Given the description of an element on the screen output the (x, y) to click on. 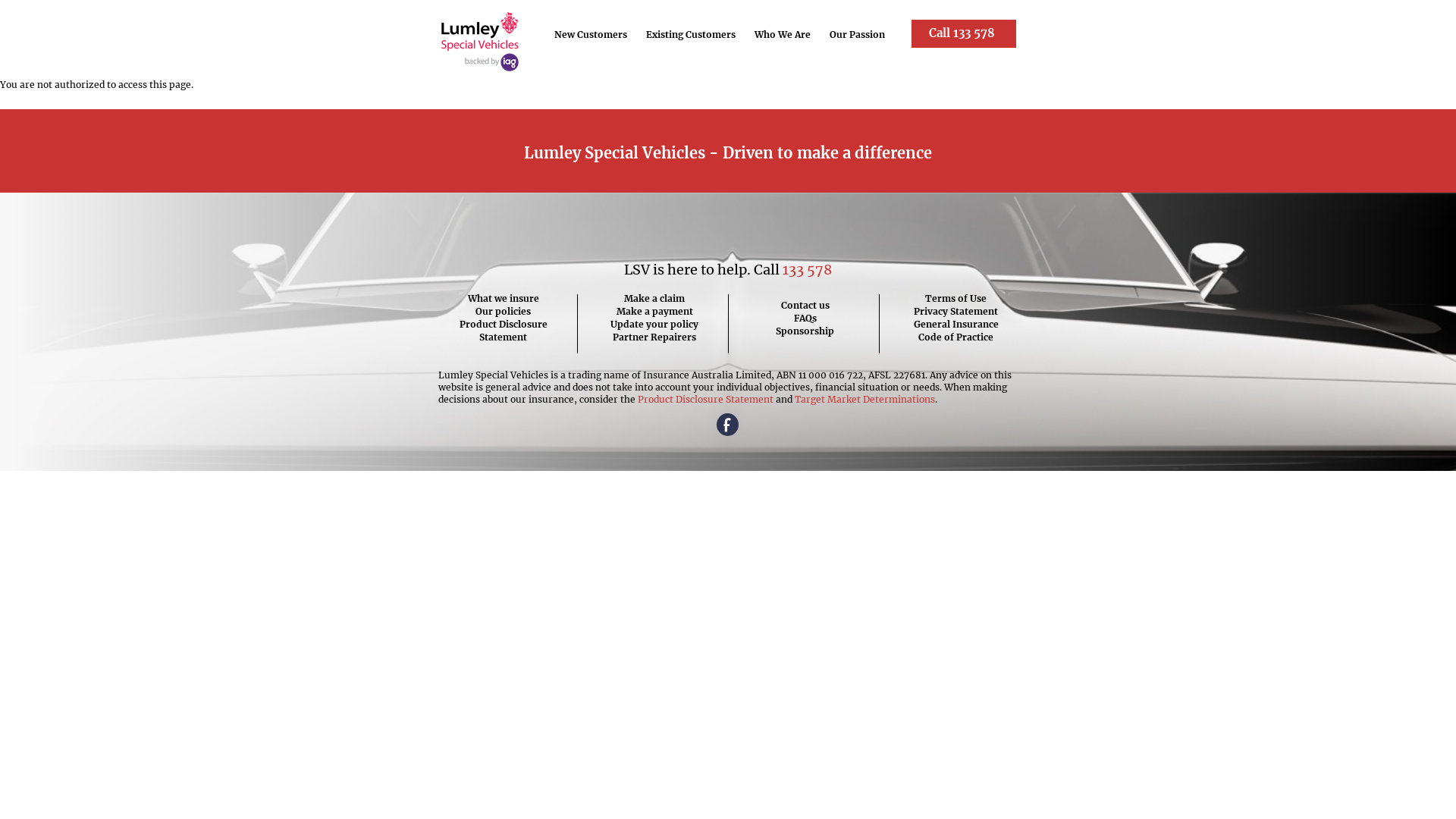
Update your policy Element type: text (654, 323)
Skip to main content Element type: text (47, 0)
Contact us Element type: text (804, 304)
Call 133 578 Element type: text (963, 33)
Product Disclosure
Statement Element type: text (503, 330)
Privacy Statement Element type: text (956, 310)
Sponsorship Element type: text (804, 330)
Who We Are Element type: text (782, 34)
Target Market Determinations Element type: text (864, 398)
Existing Customers Element type: text (691, 34)
Partner Repairers Element type: text (654, 336)
Make a payment Element type: text (654, 310)
Home Element type: hover (479, 41)
General Insurance Code of Practice Element type: text (956, 330)
Our Passion Element type: text (857, 34)
New Customers Element type: text (591, 34)
Terms of Use Element type: text (956, 297)
133 578 Element type: text (806, 269)
FAQs Element type: text (804, 317)
Facebook Element type: text (727, 425)
Product Disclosure Statement Element type: text (704, 398)
Make a claim Element type: text (654, 297)
Our policies Element type: text (503, 310)
What we insure Element type: text (503, 297)
